Given the description of an element on the screen output the (x, y) to click on. 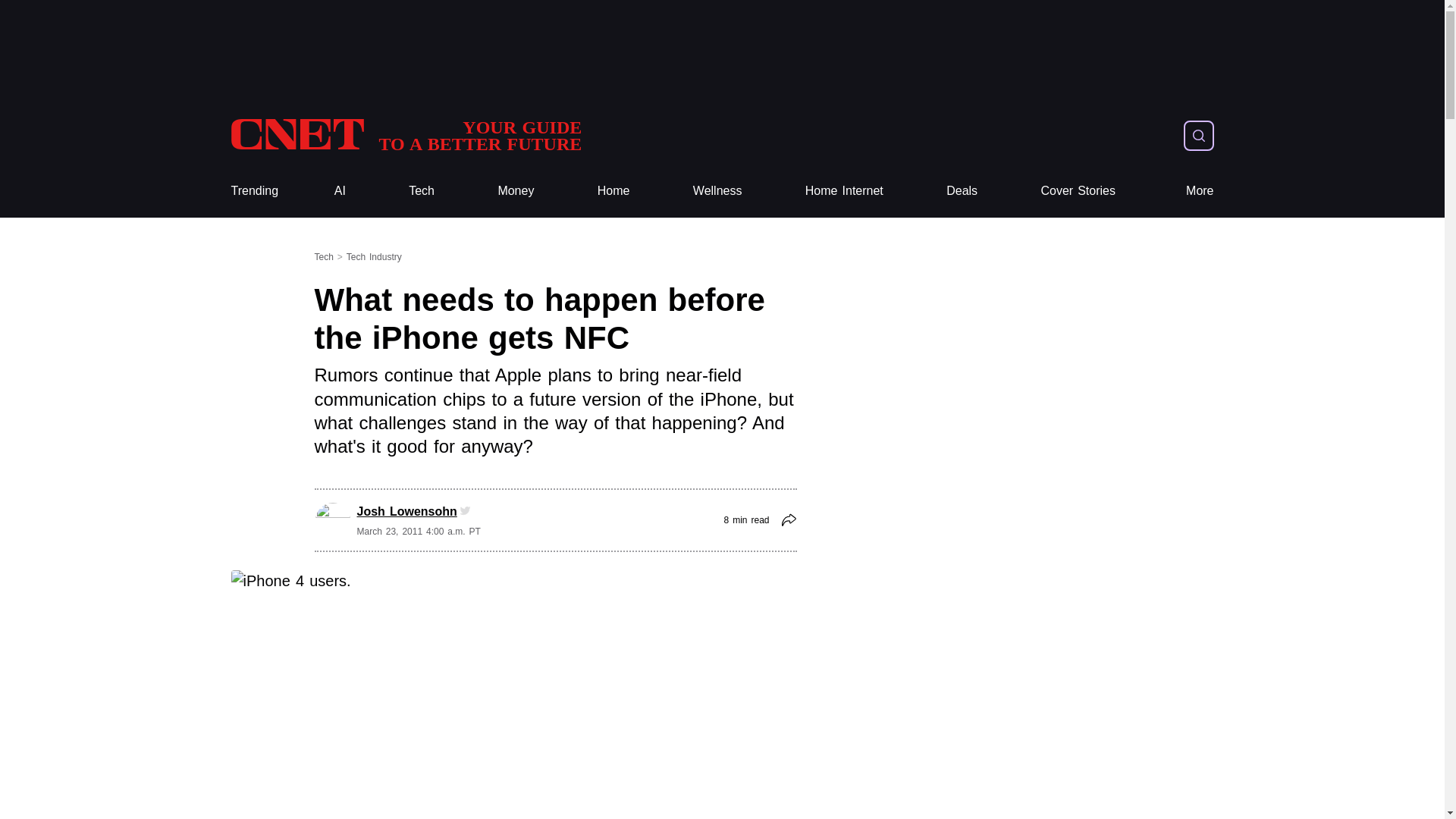
Tech (421, 190)
Wellness (717, 190)
More (1199, 190)
Home (613, 190)
Cover Stories (1078, 190)
Wellness (717, 190)
Trending (254, 190)
Money (405, 135)
Tech (515, 190)
